Given the description of an element on the screen output the (x, y) to click on. 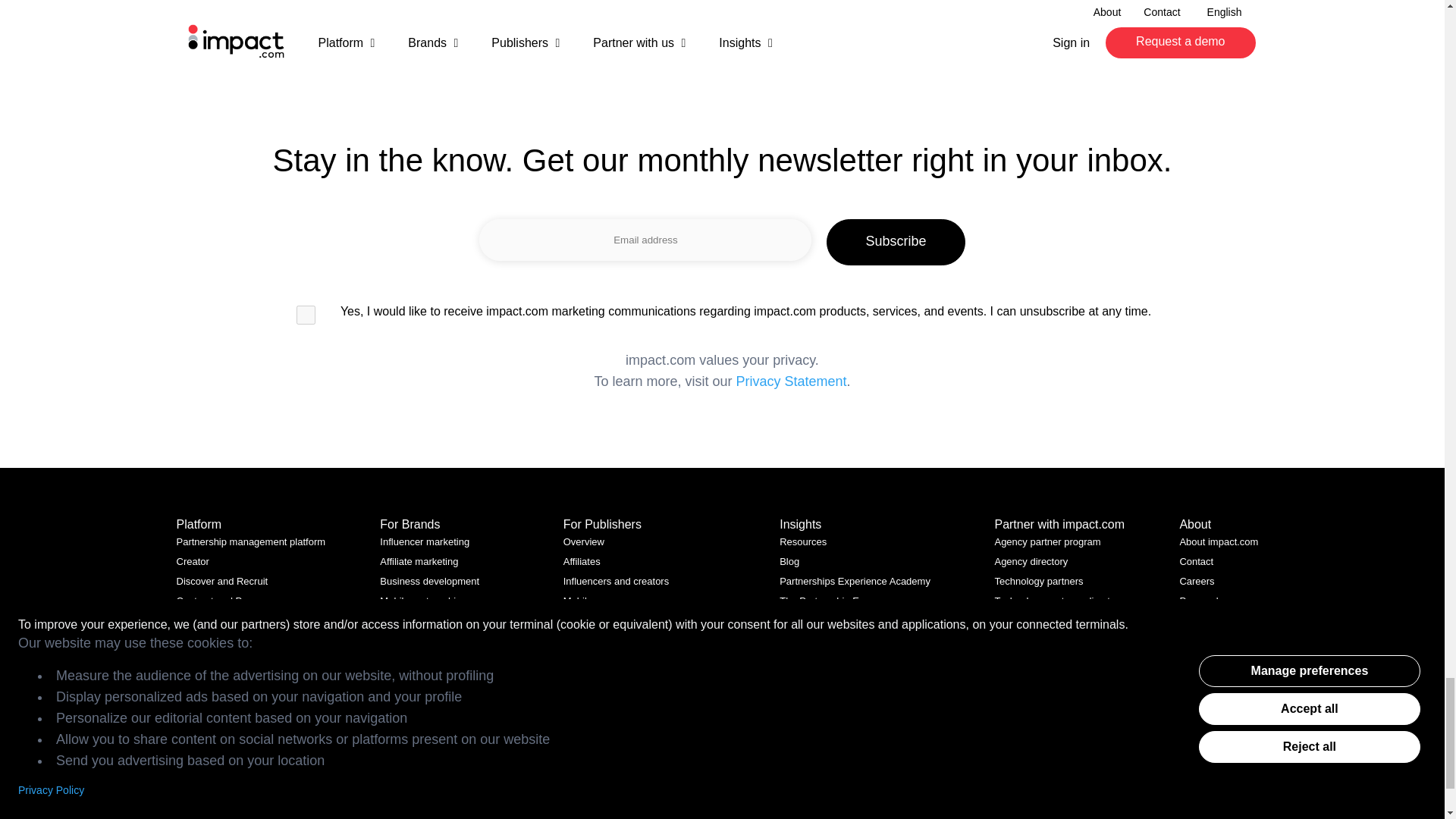
on (306, 314)
